Given the description of an element on the screen output the (x, y) to click on. 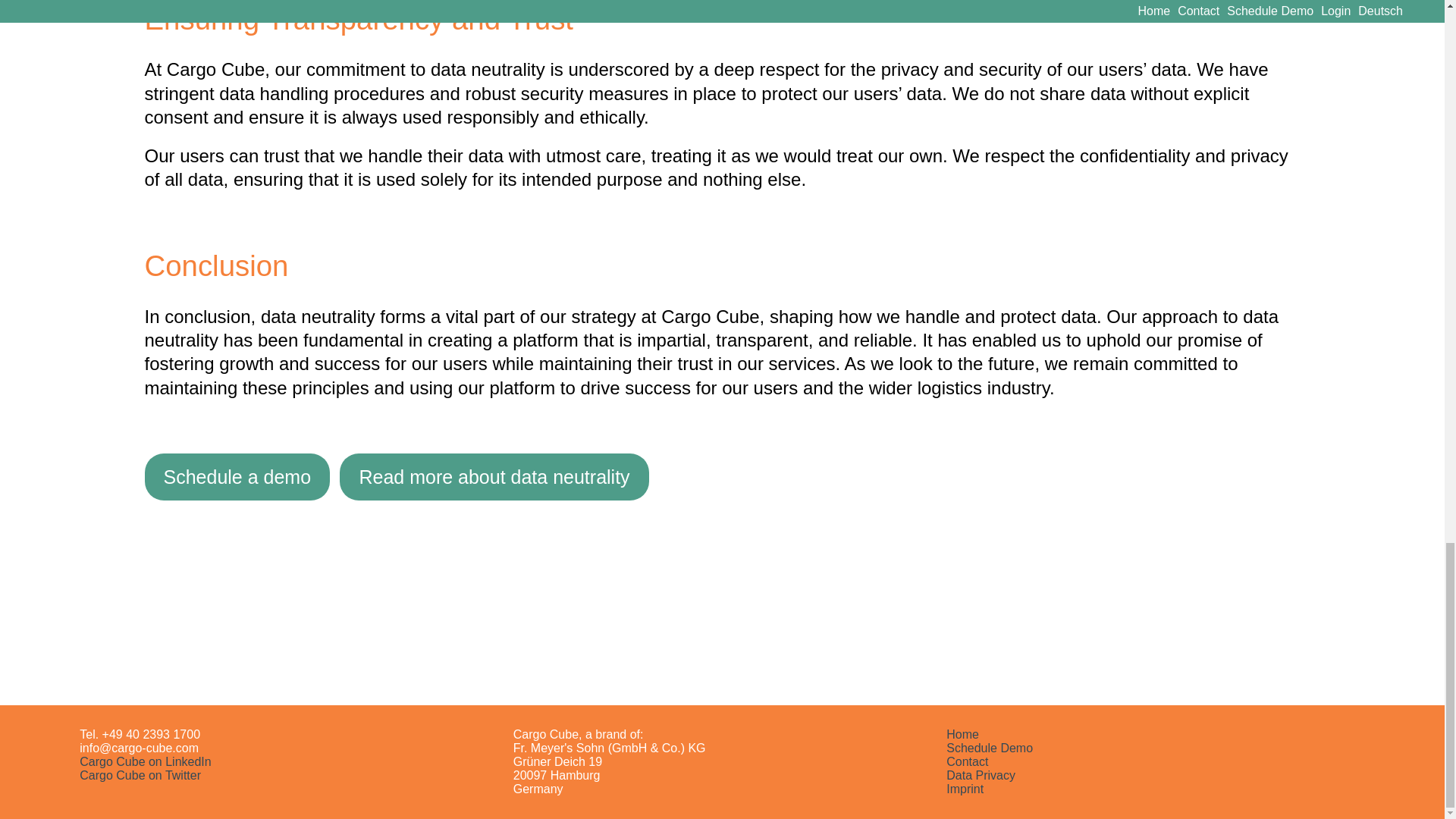
Contact (967, 761)
Schedule a demo (237, 477)
Cargo Cube on Twitter (140, 775)
Data Privacy (980, 775)
Read more about data neutrality (493, 477)
Cargo Cube on LinkedIn (145, 761)
Home (962, 734)
Imprint (965, 788)
Schedule Demo (989, 748)
